Given the description of an element on the screen output the (x, y) to click on. 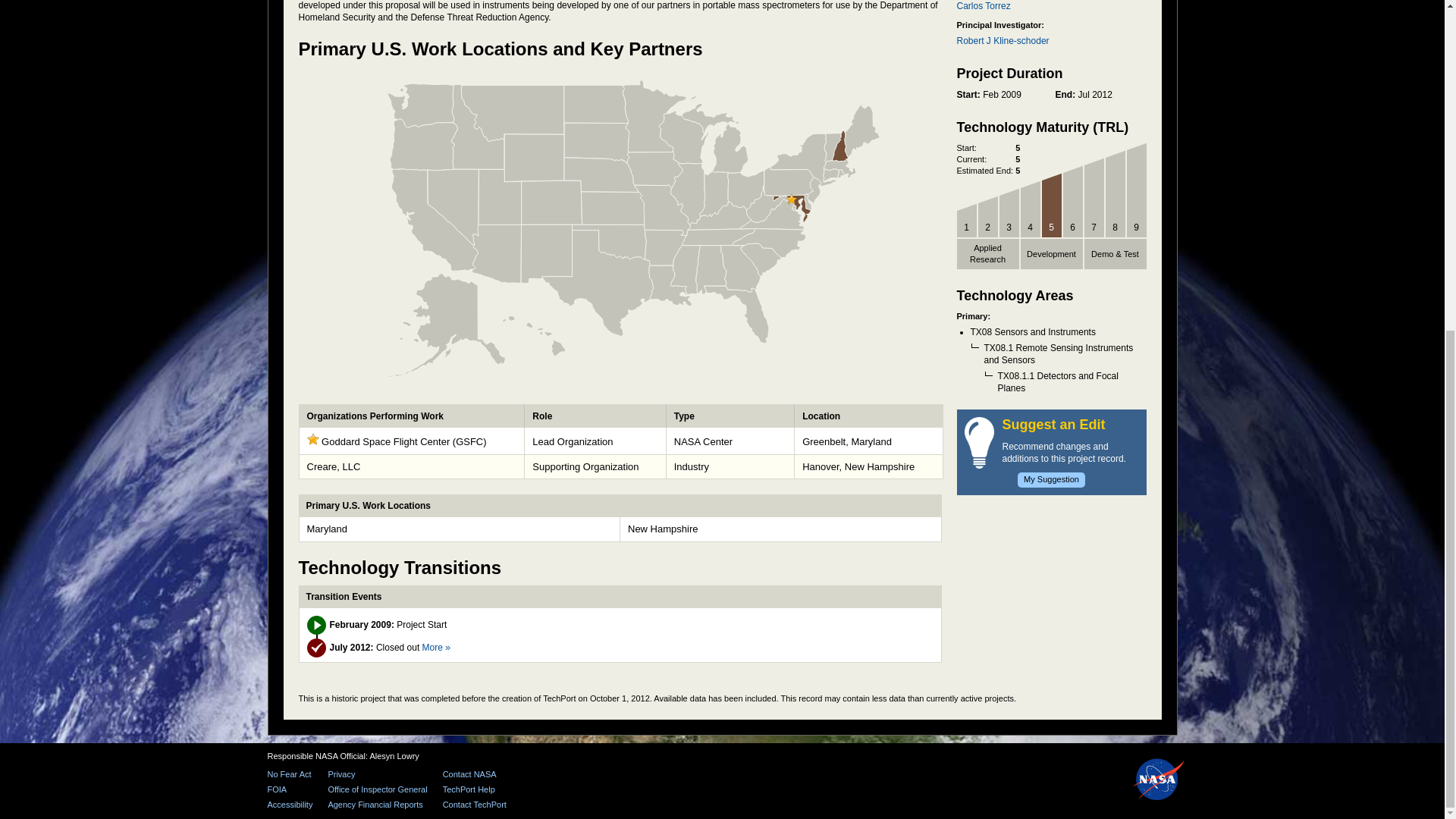
Accessibility (289, 804)
Carlos Torrez (983, 5)
No Fear Act (289, 774)
Office of Inspector General (376, 789)
Agency Financial Reports (376, 804)
FOIA (289, 789)
Privacy (376, 774)
My Suggestion (1050, 479)
Robert J Kline-schoder (1002, 40)
